Given the description of an element on the screen output the (x, y) to click on. 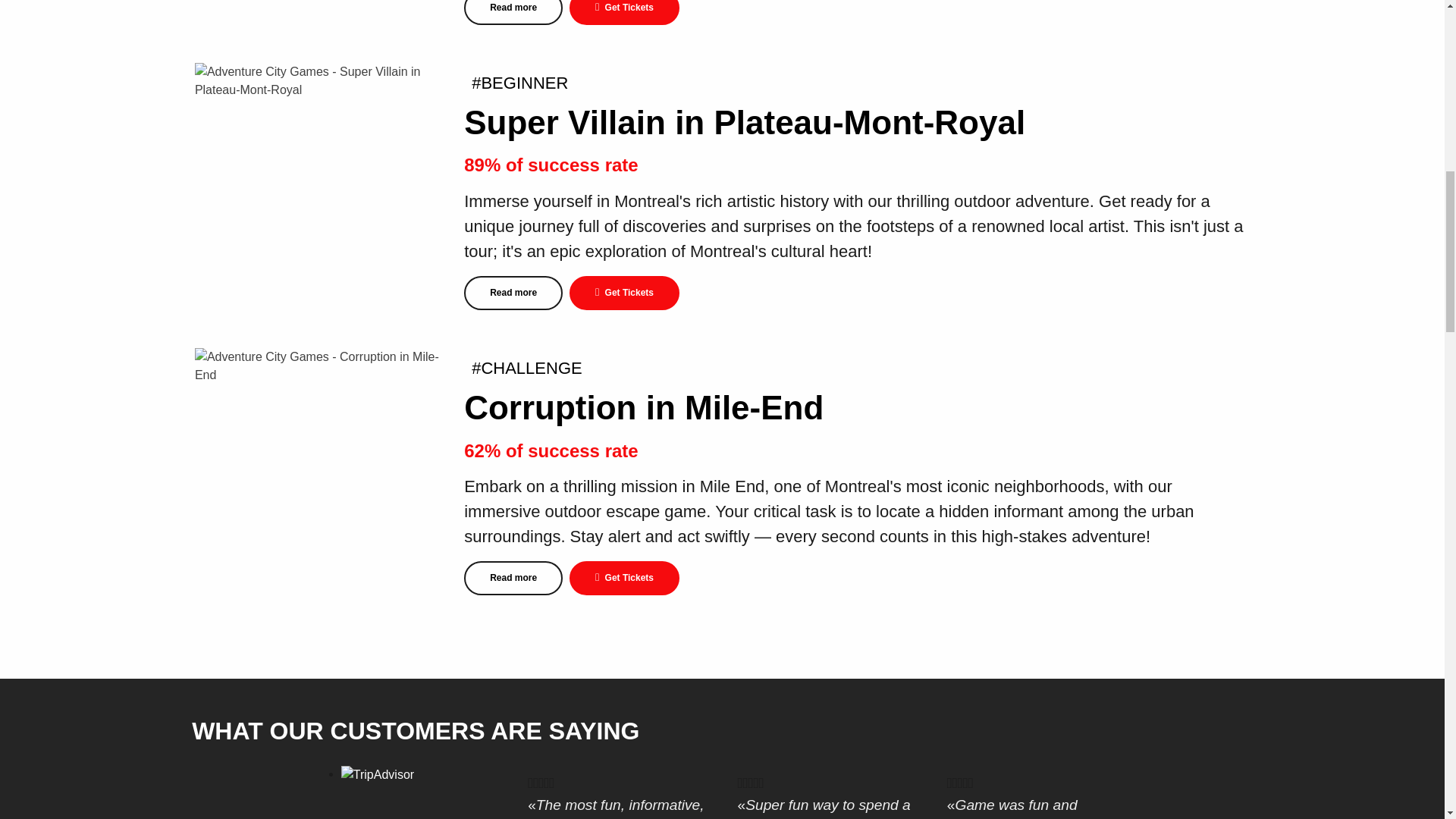
Read more (513, 293)
Get Tickets (624, 12)
Get Tickets (624, 578)
Read more (513, 578)
Get Tickets (624, 293)
Read more (513, 12)
